Given the description of an element on the screen output the (x, y) to click on. 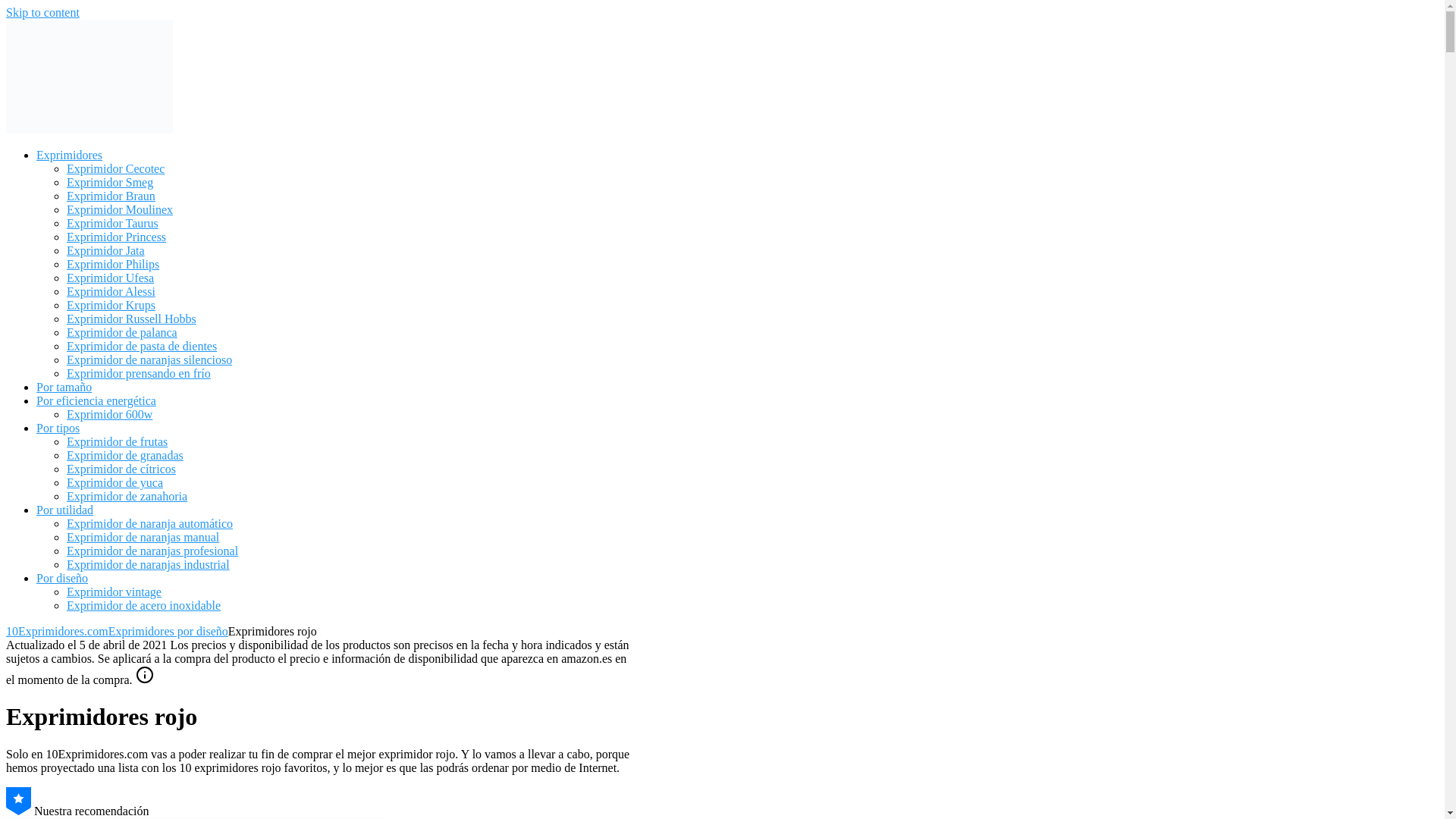
Exprimidor Cecotec Element type: text (115, 168)
10Exprimidores.com Element type: text (57, 630)
Exprimidor Philips Element type: text (112, 263)
Exprimidor de yuca Element type: text (114, 482)
Exprimidor Smeg Element type: text (109, 181)
Exprimidor de naranjas manual Element type: text (142, 536)
Exprimidor Alessi Element type: text (110, 291)
Exprimidor de pasta de dientes Element type: text (141, 345)
Exprimidor Taurus Element type: text (112, 222)
Exprimidor vintage Element type: text (113, 591)
Exprimidor de granadas Element type: text (124, 454)
Exprimidor de frutas Element type: text (116, 441)
Exprimidor de acero inoxidable Element type: text (143, 605)
Exprimidor de naranjas profesional Element type: text (152, 550)
Volver al inicio Element type: hover (89, 128)
Exprimidor Moulinex Element type: text (119, 209)
Exprimidores Element type: text (69, 154)
Exprimidor de naranjas industrial Element type: text (147, 564)
Exprimidor Russell Hobbs Element type: text (131, 318)
Exprimidor Ufesa Element type: text (109, 277)
Exprimidor Jata Element type: text (105, 250)
Por utilidad Element type: text (64, 509)
Por tipos Element type: text (57, 427)
Exprimidor 600w Element type: text (109, 413)
Exprimidor de palanca Element type: text (121, 332)
Exprimidor Princess Element type: text (116, 236)
Exprimidor Braun Element type: text (110, 195)
Exprimidor de zanahoria Element type: text (126, 495)
Skip to content Element type: text (42, 12)
Exprimidor de naranjas silencioso Element type: text (149, 359)
Exprimidor Krups Element type: text (110, 304)
